Given the description of an element on the screen output the (x, y) to click on. 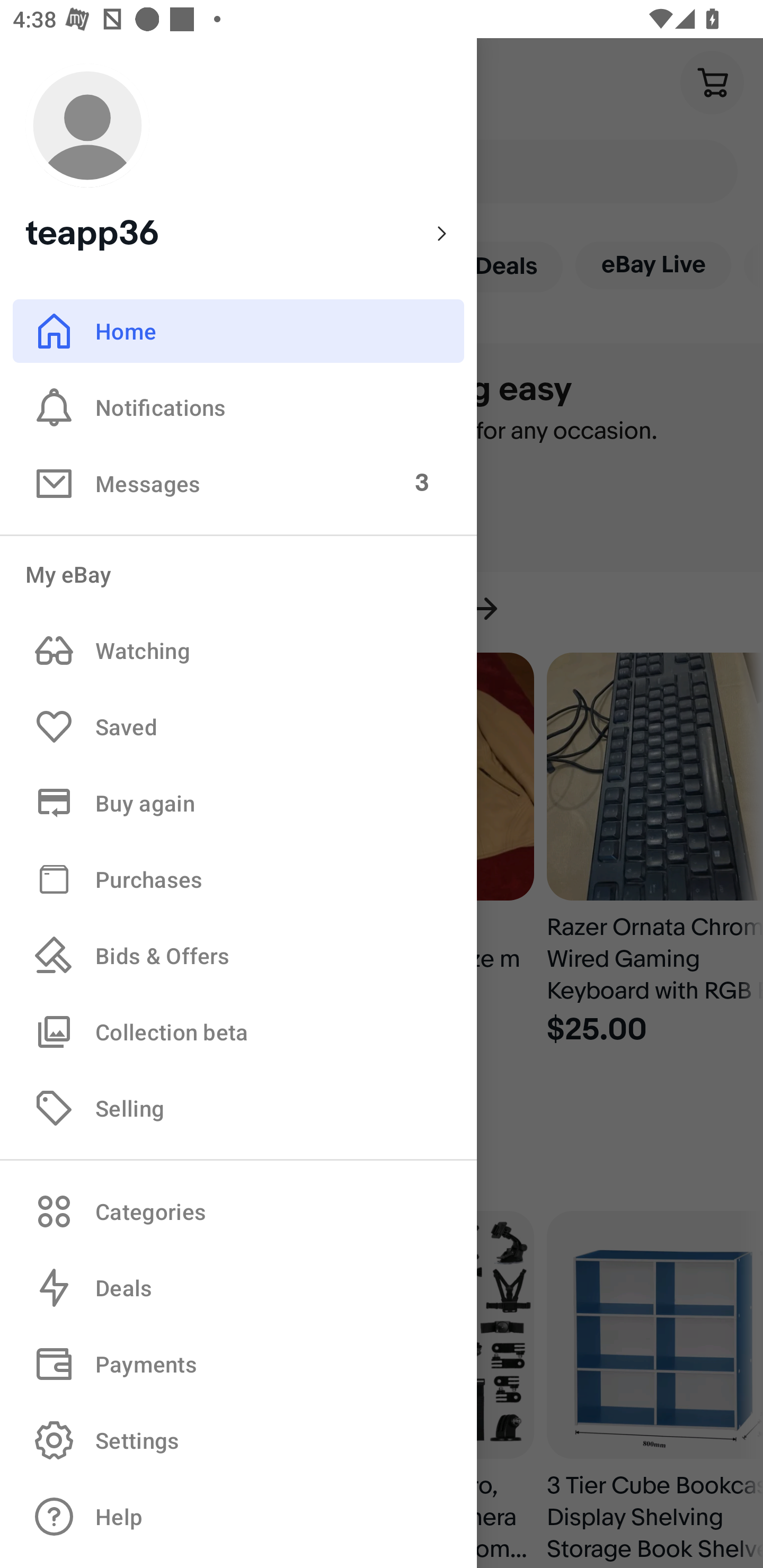
teapp36 (238, 158)
Home (238, 330)
Notifications (238, 406)
Messages 3 (238, 483)
Watching (238, 650)
Saved (238, 726)
Buy again (238, 802)
Purchases (238, 878)
Bids & Offers (238, 955)
Collection beta (238, 1031)
Selling (238, 1107)
Categories (238, 1210)
Deals (238, 1287)
Payments (238, 1363)
Settings (238, 1439)
Help (238, 1516)
